Given the description of an element on the screen output the (x, y) to click on. 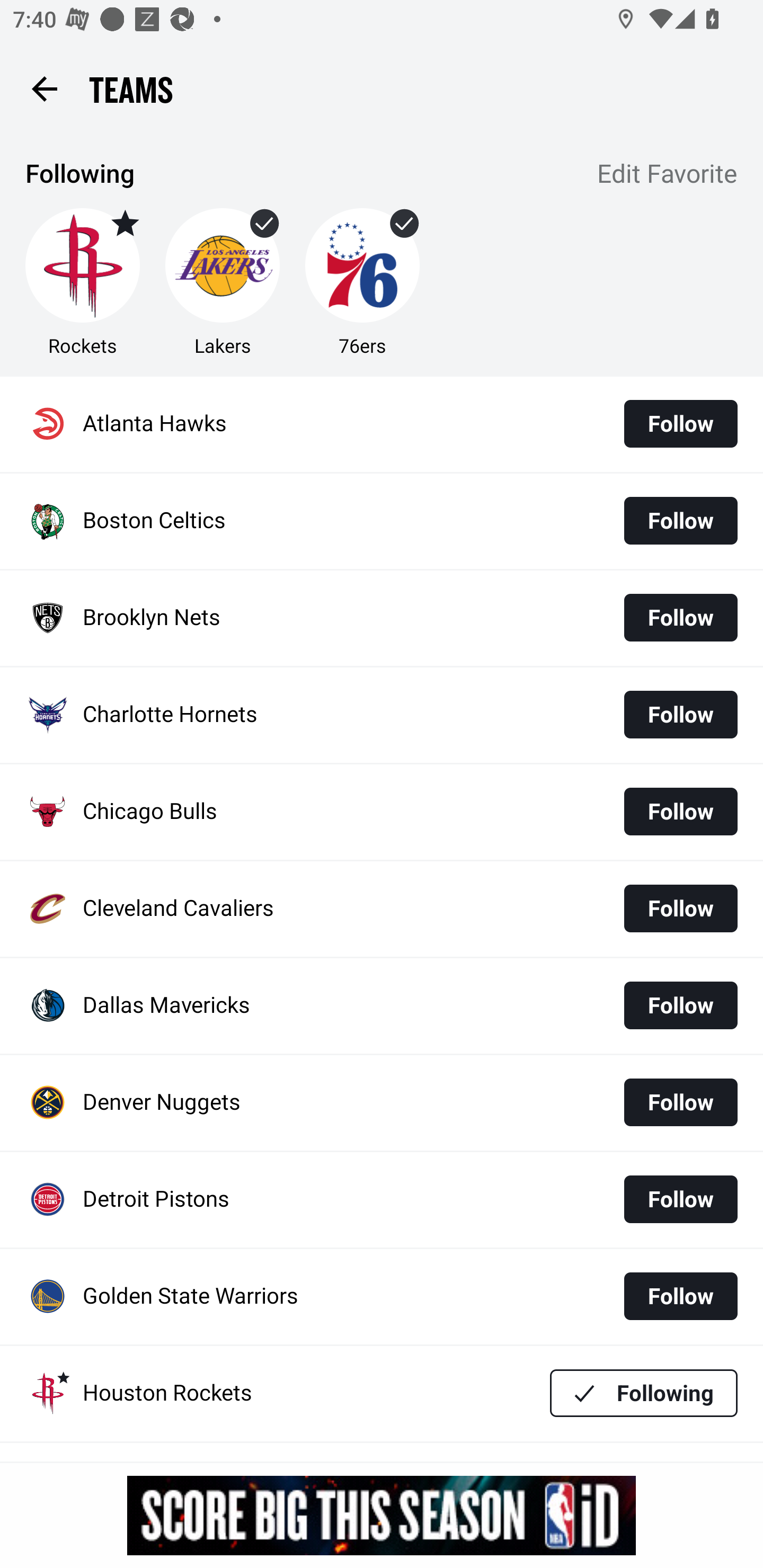
Back button (44, 88)
Edit Favorite (667, 175)
Atlanta Hawks Follow (381, 423)
Follow (680, 423)
Boston Celtics Follow (381, 521)
Follow (680, 520)
Brooklyn Nets Follow (381, 618)
Follow (680, 617)
Charlotte Hornets Follow (381, 714)
Follow (680, 713)
Chicago Bulls Follow (381, 812)
Follow (680, 811)
Cleveland Cavaliers Follow (381, 908)
Follow (680, 908)
Dallas Mavericks Follow (381, 1005)
Follow (680, 1005)
Denver Nuggets Follow (381, 1102)
Follow (680, 1101)
Detroit Pistons Follow (381, 1200)
Follow (680, 1199)
Golden State Warriors Follow (381, 1296)
Follow (680, 1295)
Houston Rockets Following (381, 1392)
Following (643, 1392)
g5nqqygr7owph (381, 1515)
